Given the description of an element on the screen output the (x, y) to click on. 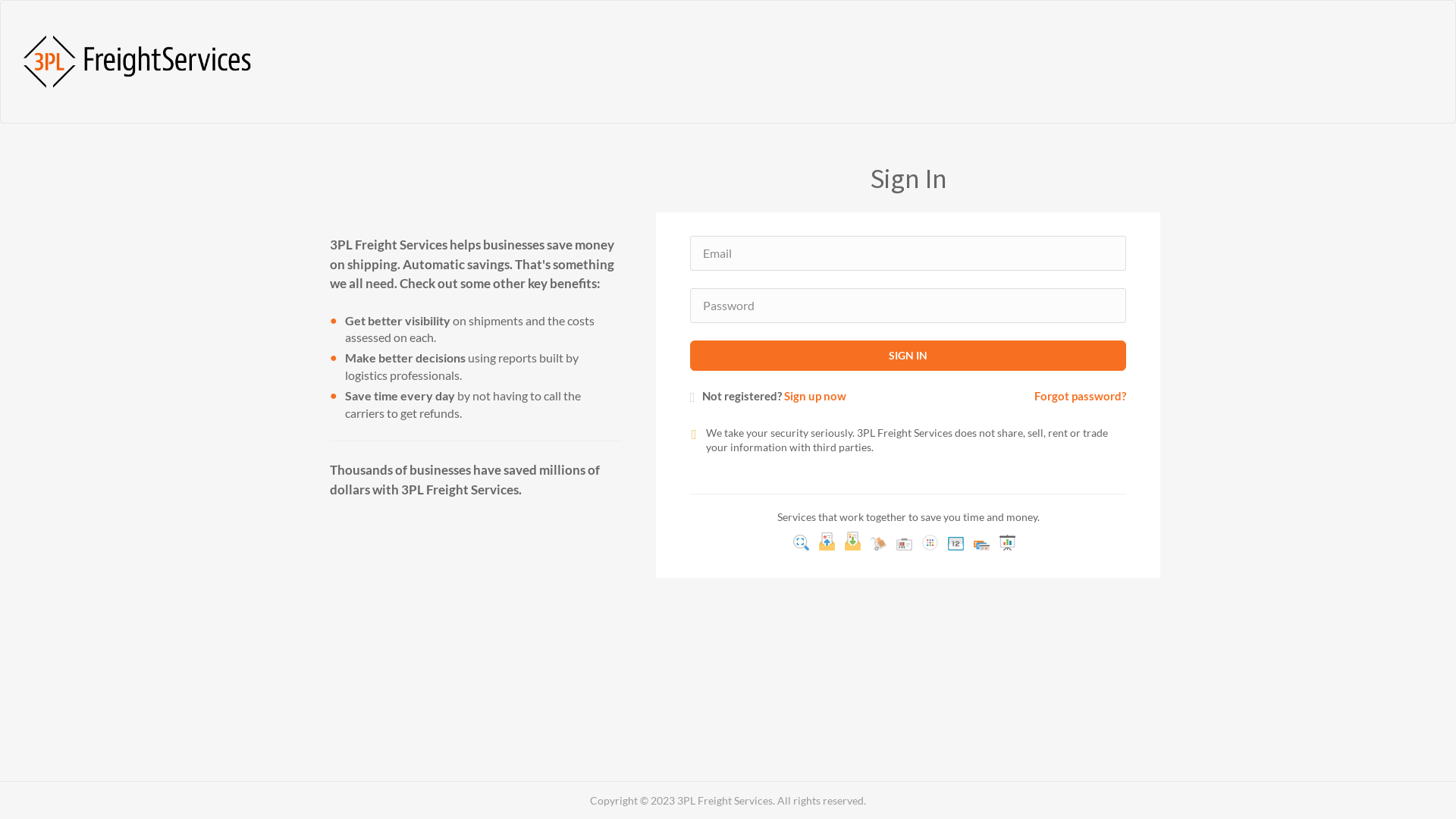
SIGN IN Element type: text (908, 355)
Lost and Damage Claim Service Element type: hover (826, 541)
Claim Verification Service Element type: hover (852, 540)
Transportation Analytics Service Element type: hover (1007, 542)
Forgot password? Element type: text (1080, 395)
Shipment Voiding Service Element type: hover (904, 544)
Online Billing Service Element type: hover (981, 545)
Sign up now Element type: text (815, 395)
Weekly Reporting Service Element type: hover (955, 543)
Shipment Auditing Service Element type: hover (801, 542)
Third Party Shipper Notification Service Element type: hover (930, 542)
Manifest Tracking Service Element type: hover (878, 543)
